Given the description of an element on the screen output the (x, y) to click on. 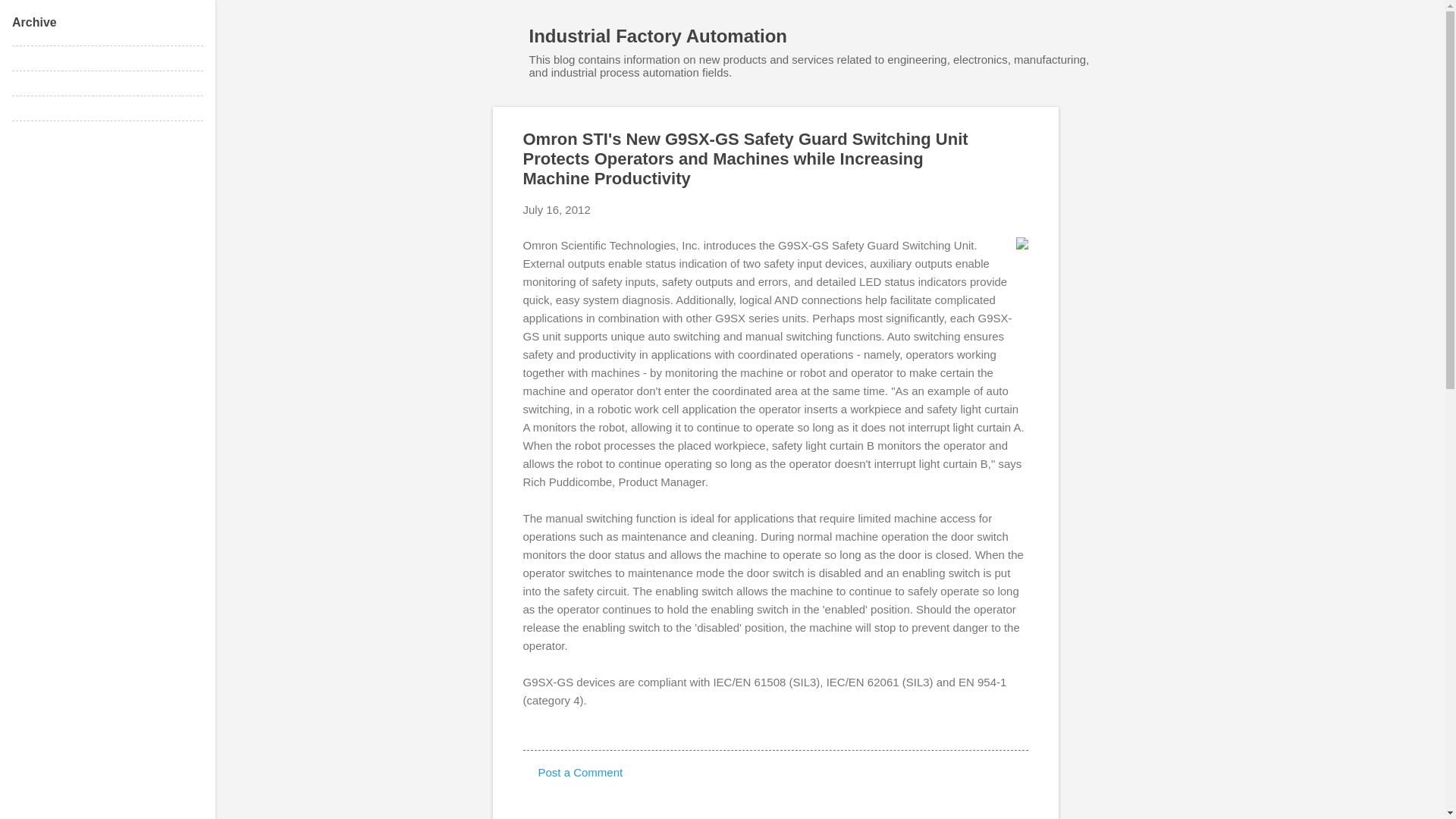
Industrial Factory Automation (658, 35)
July 16, 2012 (556, 209)
permanent link (556, 209)
Post a Comment (580, 771)
